Given the description of an element on the screen output the (x, y) to click on. 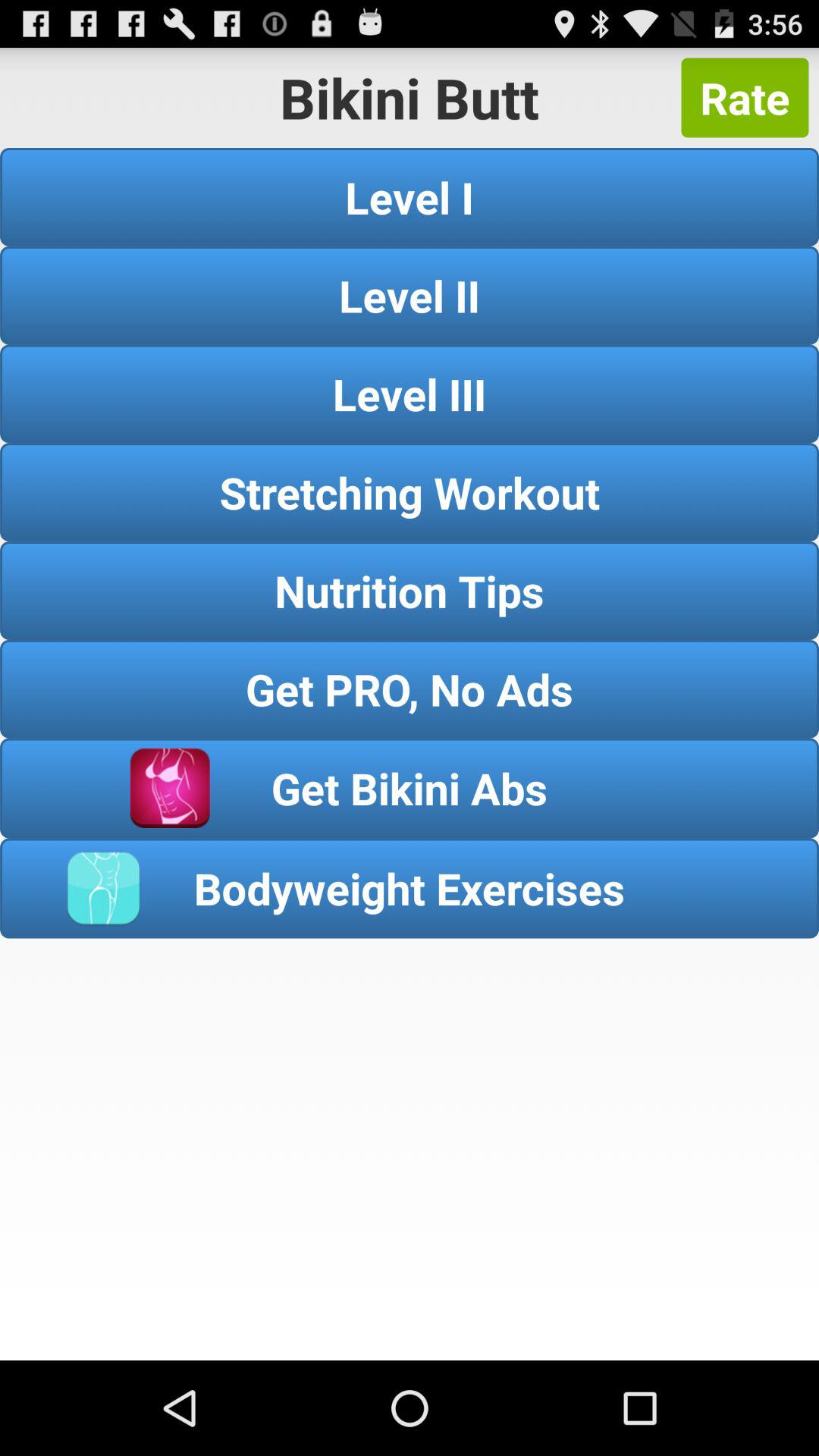
open item to the right of bikini butt app (744, 97)
